Given the description of an element on the screen output the (x, y) to click on. 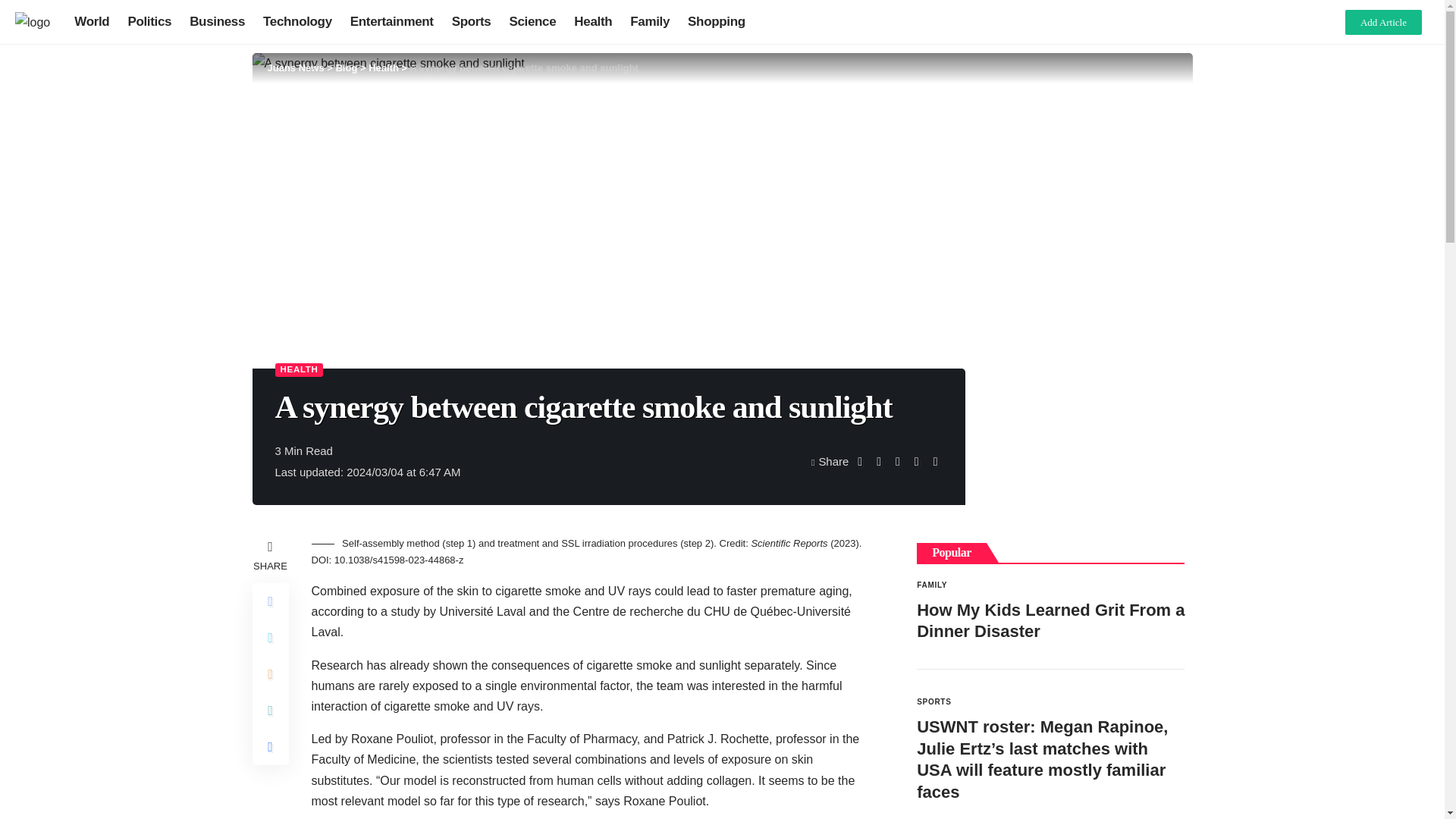
Business (216, 22)
Science (531, 22)
Sports (471, 22)
Politics (148, 22)
Juans News (294, 67)
Add Article (1383, 21)
Go to Blog. (345, 67)
Shopping (716, 22)
Technology (296, 22)
Family (649, 22)
